Given the description of an element on the screen output the (x, y) to click on. 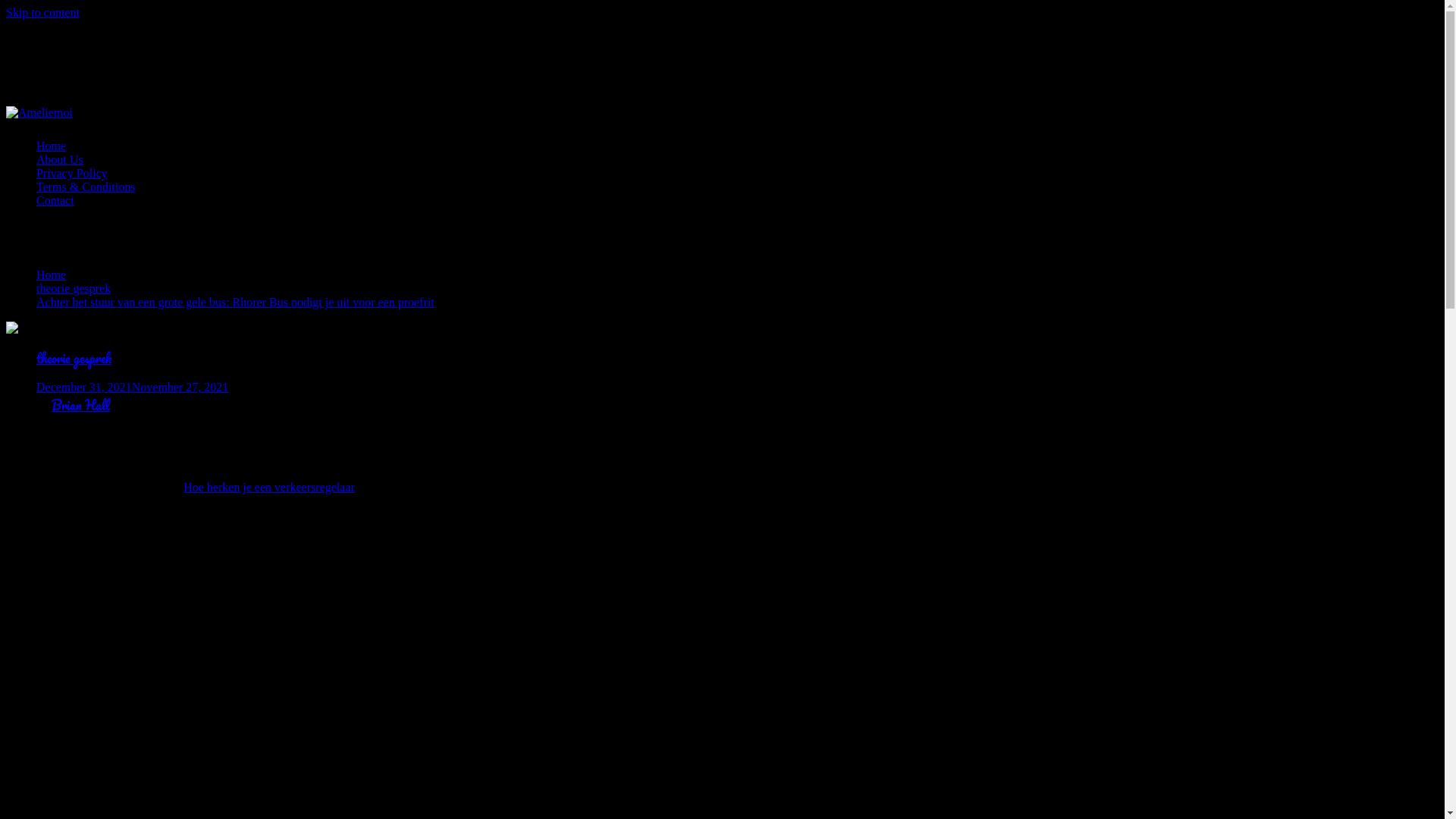
About Us Element type: text (59, 159)
Home Element type: text (50, 145)
Privacy Policy Element type: text (71, 172)
Het volledige CBR auto theorie examen augustus 2021 Element type: hover (248, 642)
Hoe herken je een verkeersregelaar Element type: text (268, 486)
theorie gesprek Element type: text (73, 357)
December 31, 2021November 27, 2021 Element type: text (132, 386)
Skip to content Element type: text (42, 12)
Contact Element type: text (55, 200)
theorie gesprek Element type: text (73, 288)
Brian Hall Element type: text (80, 404)
Home Element type: text (50, 274)
Terms & Conditions Element type: text (85, 186)
